Given the description of an element on the screen output the (x, y) to click on. 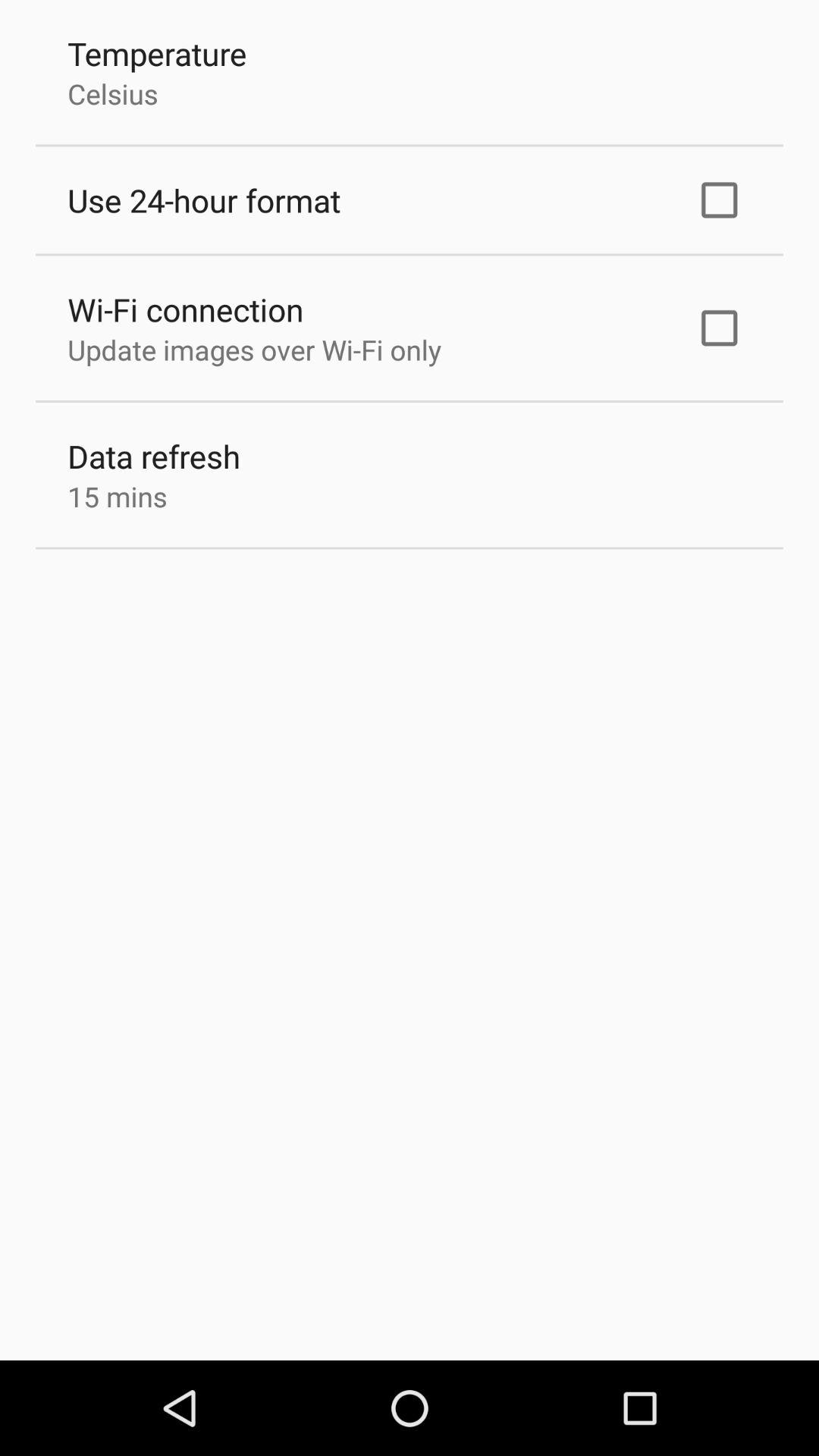
tap the icon below the update images over app (153, 455)
